Given the description of an element on the screen output the (x, y) to click on. 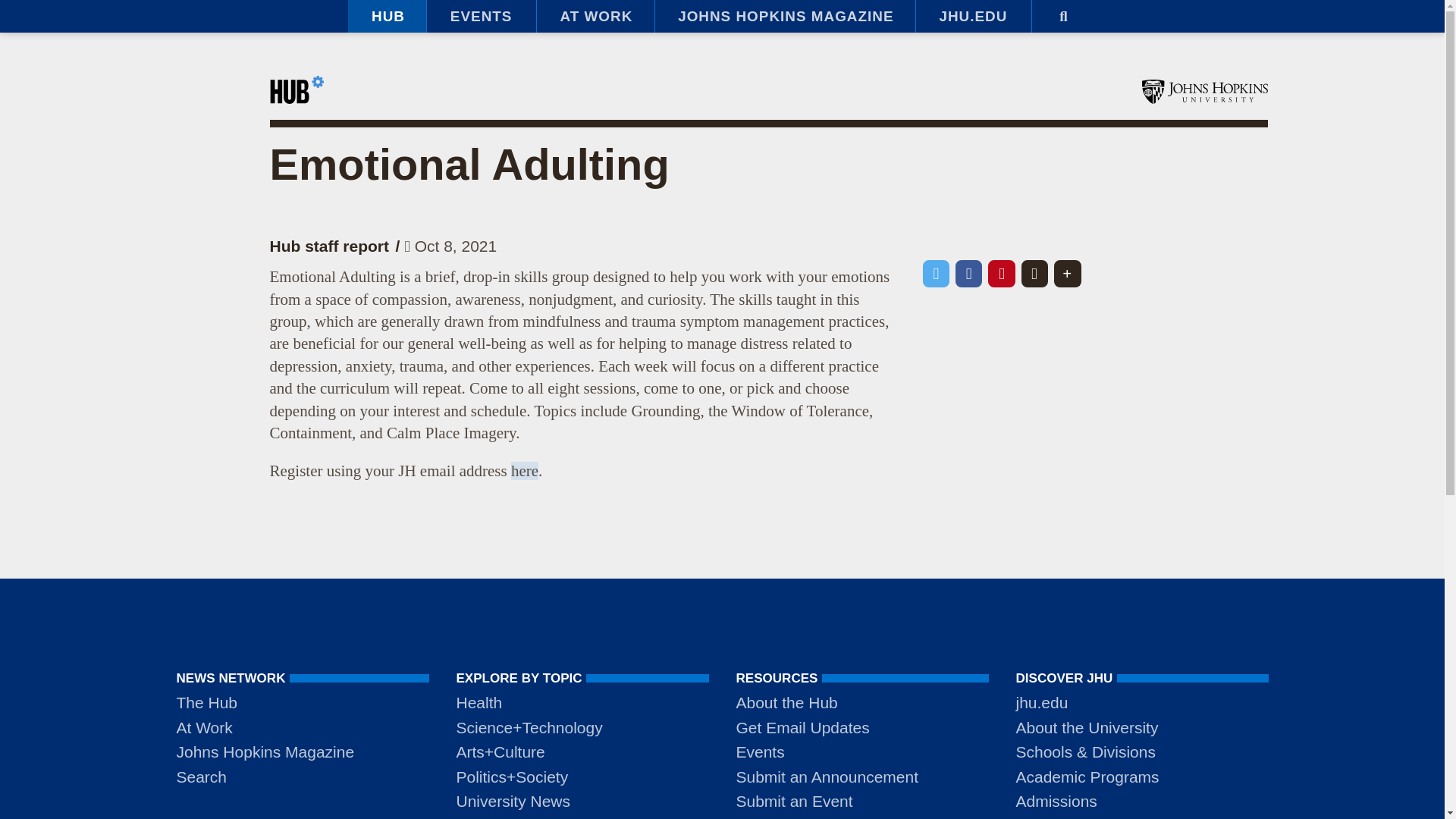
HUB (386, 16)
JHU.EDU (972, 16)
EVENTS (480, 16)
Johns Hopkins University (1204, 91)
JOHNS HOPKINS MAGAZINE (784, 16)
AT WORK (594, 16)
